Given the description of an element on the screen output the (x, y) to click on. 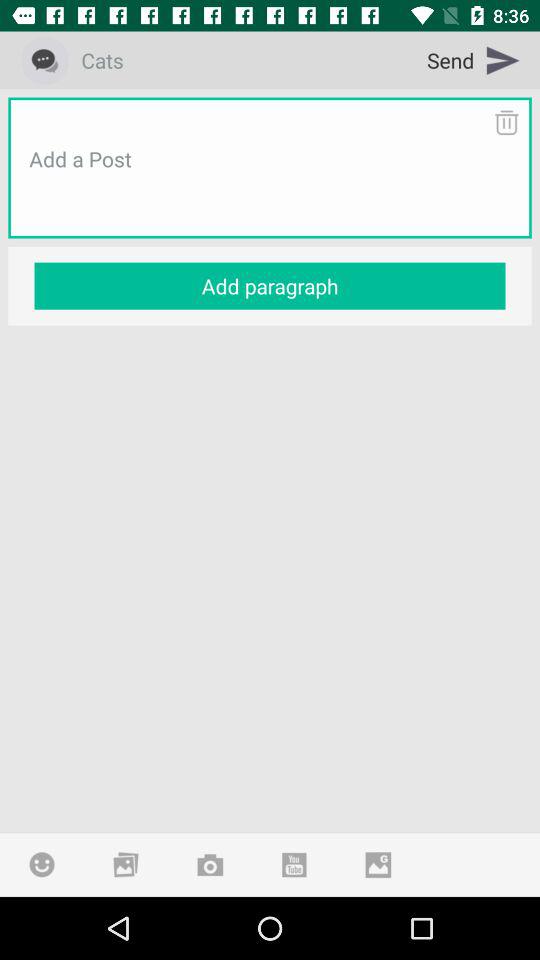
take a photo (210, 864)
